Given the description of an element on the screen output the (x, y) to click on. 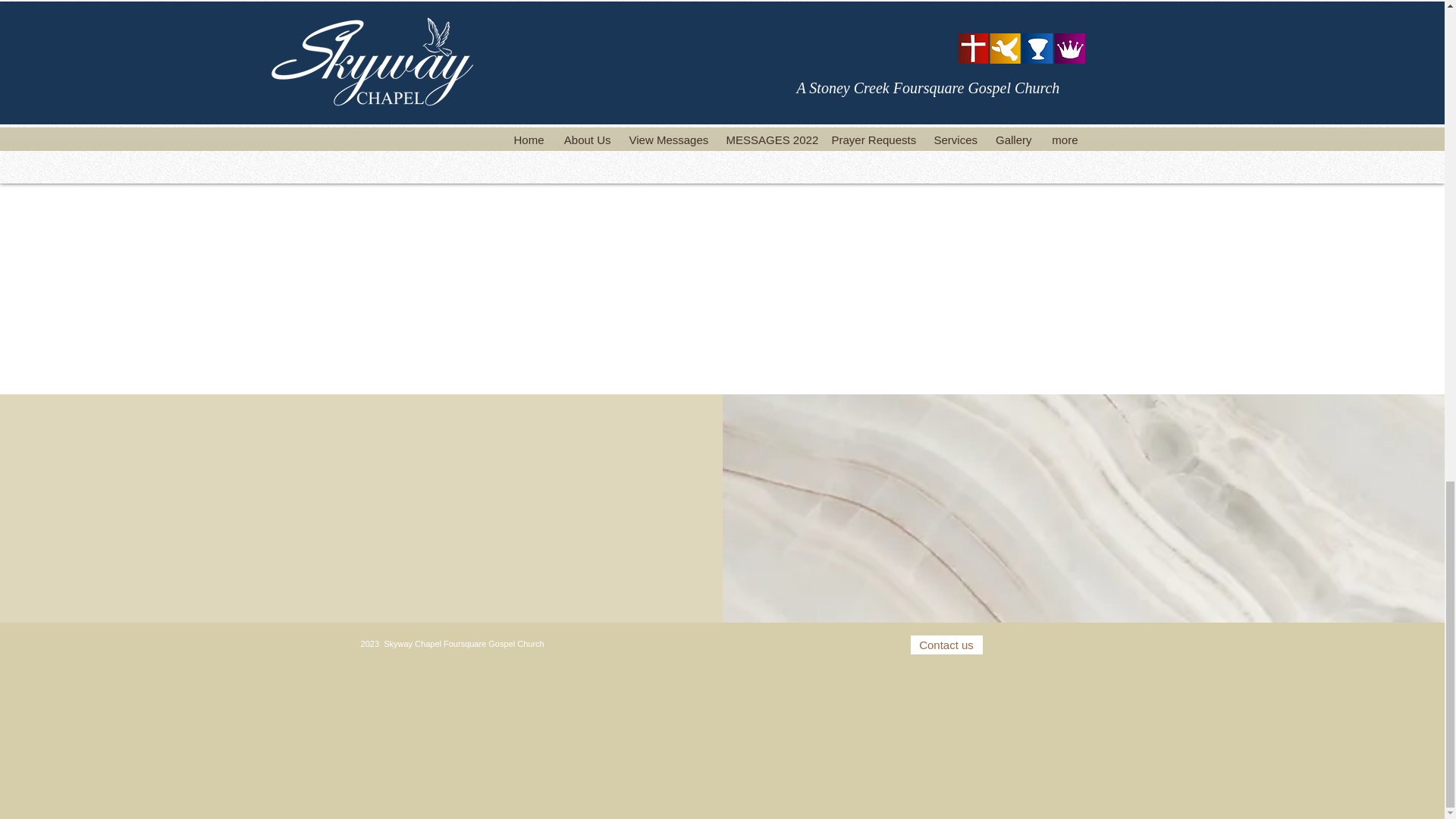
Contact us (945, 644)
